Given the description of an element on the screen output the (x, y) to click on. 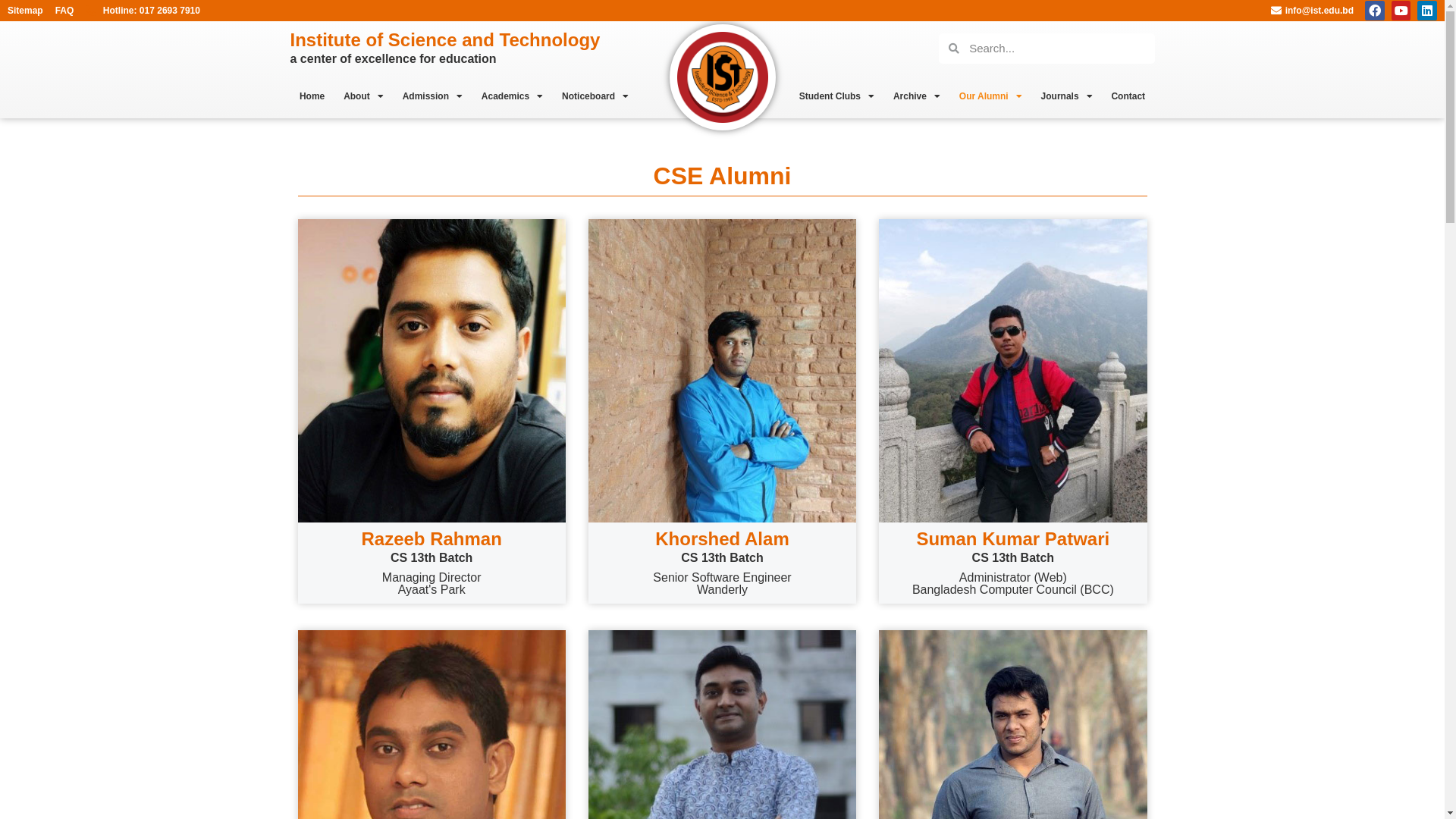
FAQ Element type: text (64, 10)
About Element type: text (363, 96)
Student Clubs Element type: text (836, 96)
Home Element type: text (311, 96)
                               Element type: text (685, 96)
Search Element type: hover (1056, 48)
Noticeboard Element type: text (595, 96)
Archive Element type: text (916, 96)
Sitemap Element type: text (25, 10)
Journals Element type: text (1066, 96)
                Element type: text (760, 96)
info@ist.edu.bd Element type: text (1310, 10)
Academics Element type: text (511, 96)
Admission Element type: text (431, 96)
Contact Element type: text (1127, 96)
Our Alumni Element type: text (990, 96)
